Given the description of an element on the screen output the (x, y) to click on. 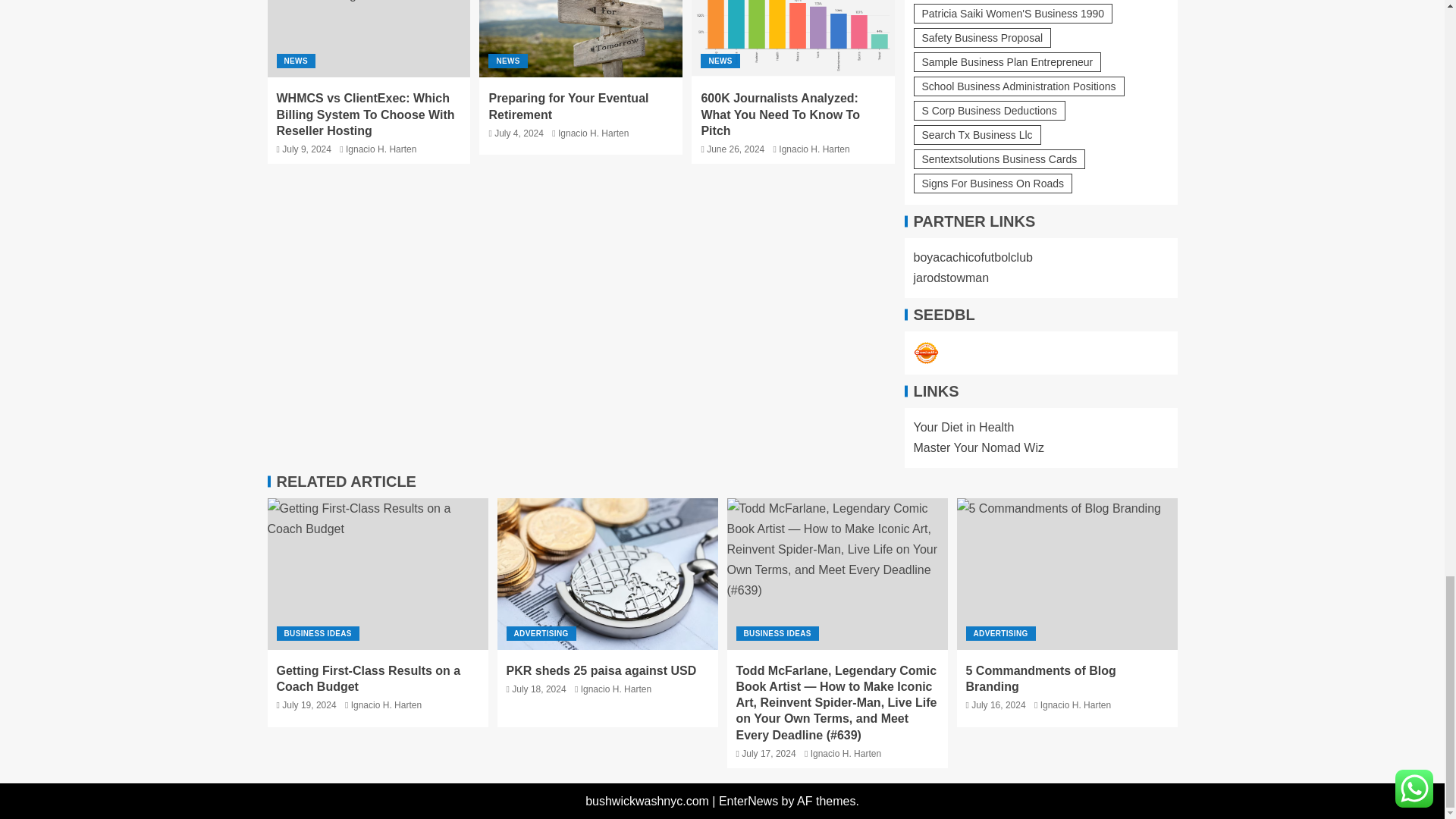
600K Journalists Analyzed: What You Need To Know To Pitch (793, 38)
Seedbacklink (925, 353)
NEWS (295, 60)
PKR sheds 25 paisa against USD (607, 573)
Preparing for Your Eventual Retirement (580, 38)
Getting First-Class Results on a Coach Budget (376, 573)
